Given the description of an element on the screen output the (x, y) to click on. 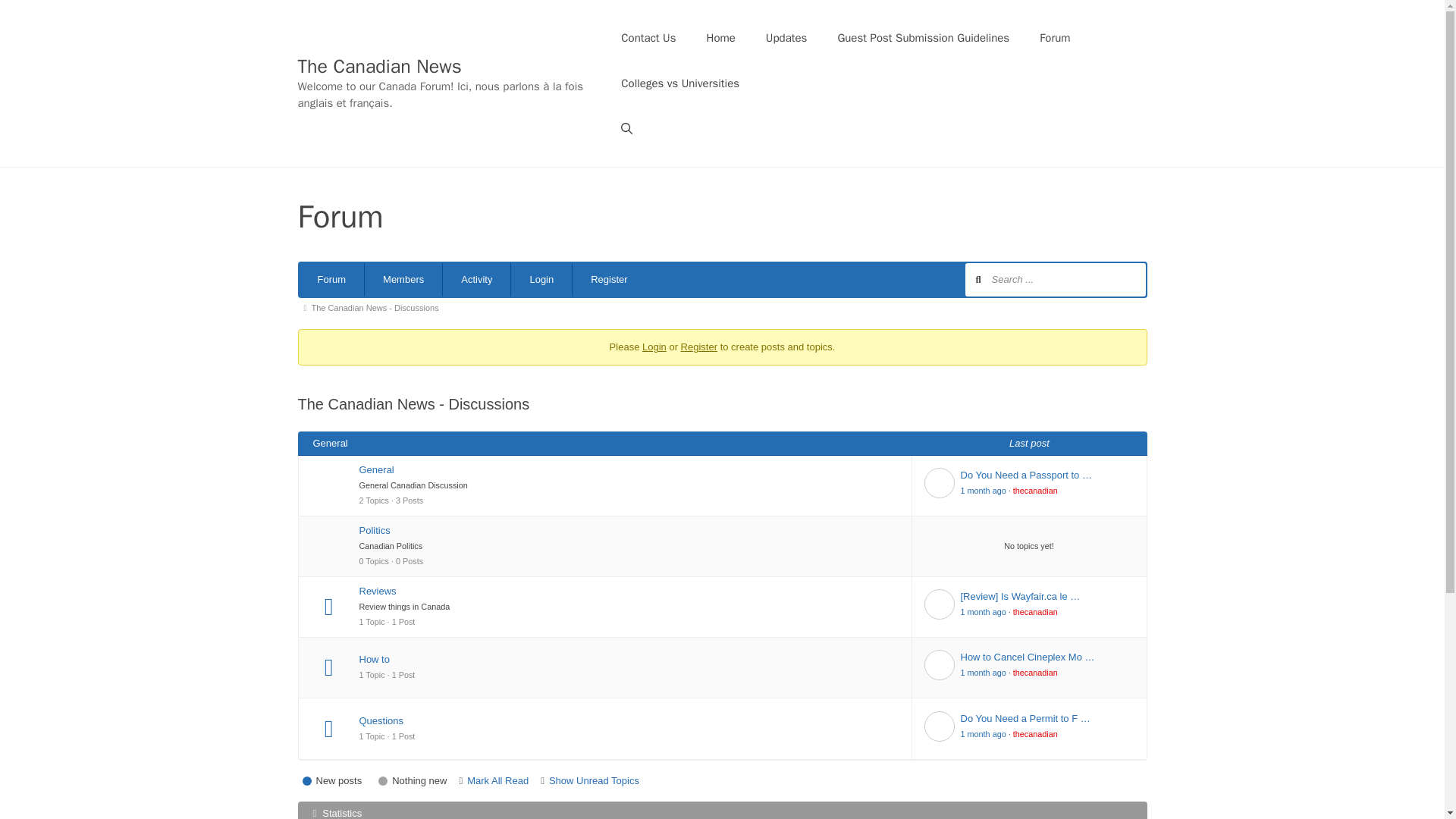
General (629, 469)
The Canadian News (379, 65)
Members (403, 279)
Activity (476, 279)
Forum (331, 279)
Reviews (629, 590)
The Canadian News - Discussions (377, 307)
Login (541, 279)
1 month ago (982, 611)
The Canadian News - Discussions (377, 307)
